Given the description of an element on the screen output the (x, y) to click on. 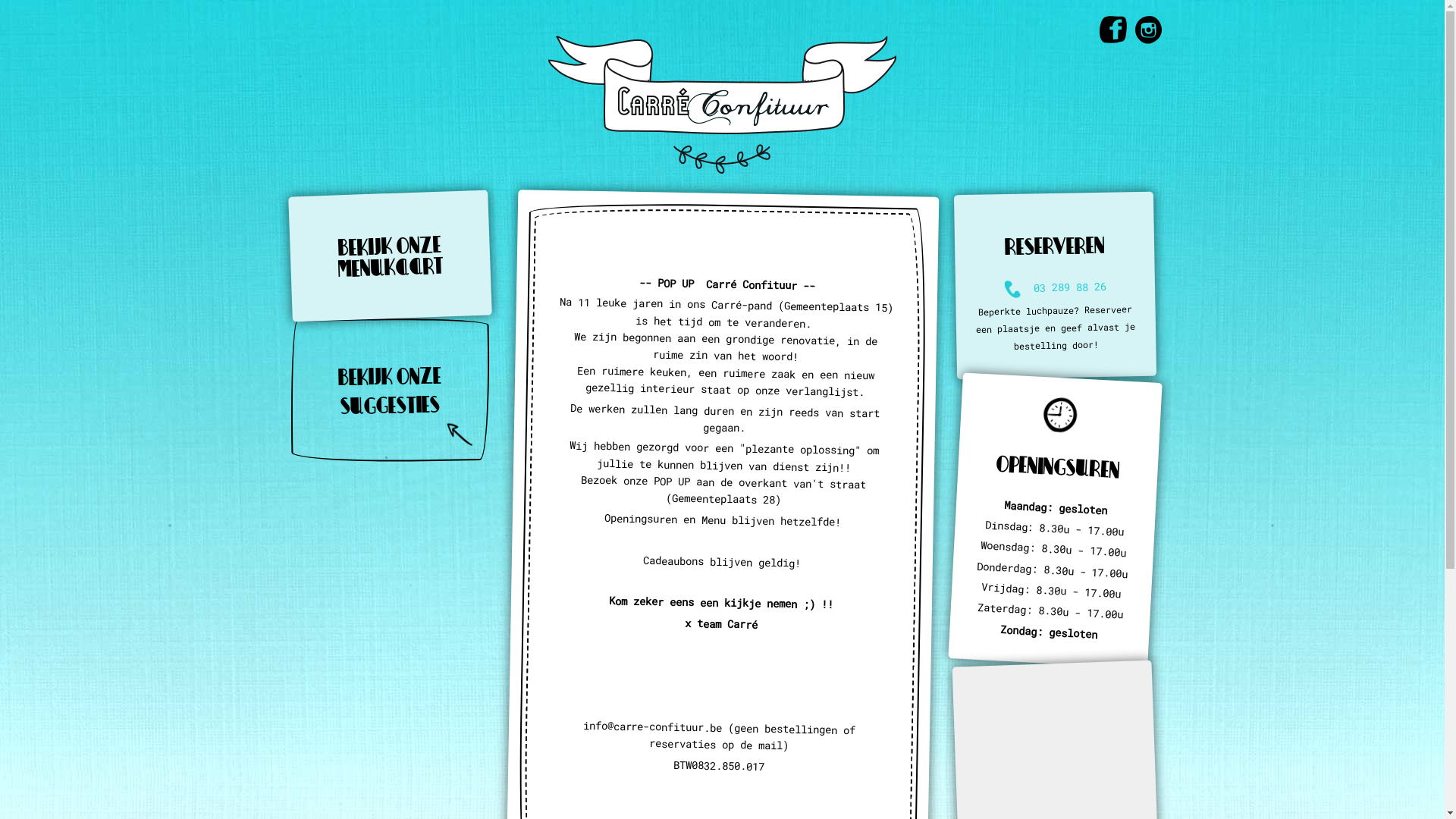
Overslaan en naar de inhoud gaan Element type: text (0, 0)
BEKIJK ONZE SUGGESTIES Element type: text (388, 389)
Home Element type: hover (722, 103)
BEKIJK ONZE MENUKAART Element type: text (389, 252)
